Given the description of an element on the screen output the (x, y) to click on. 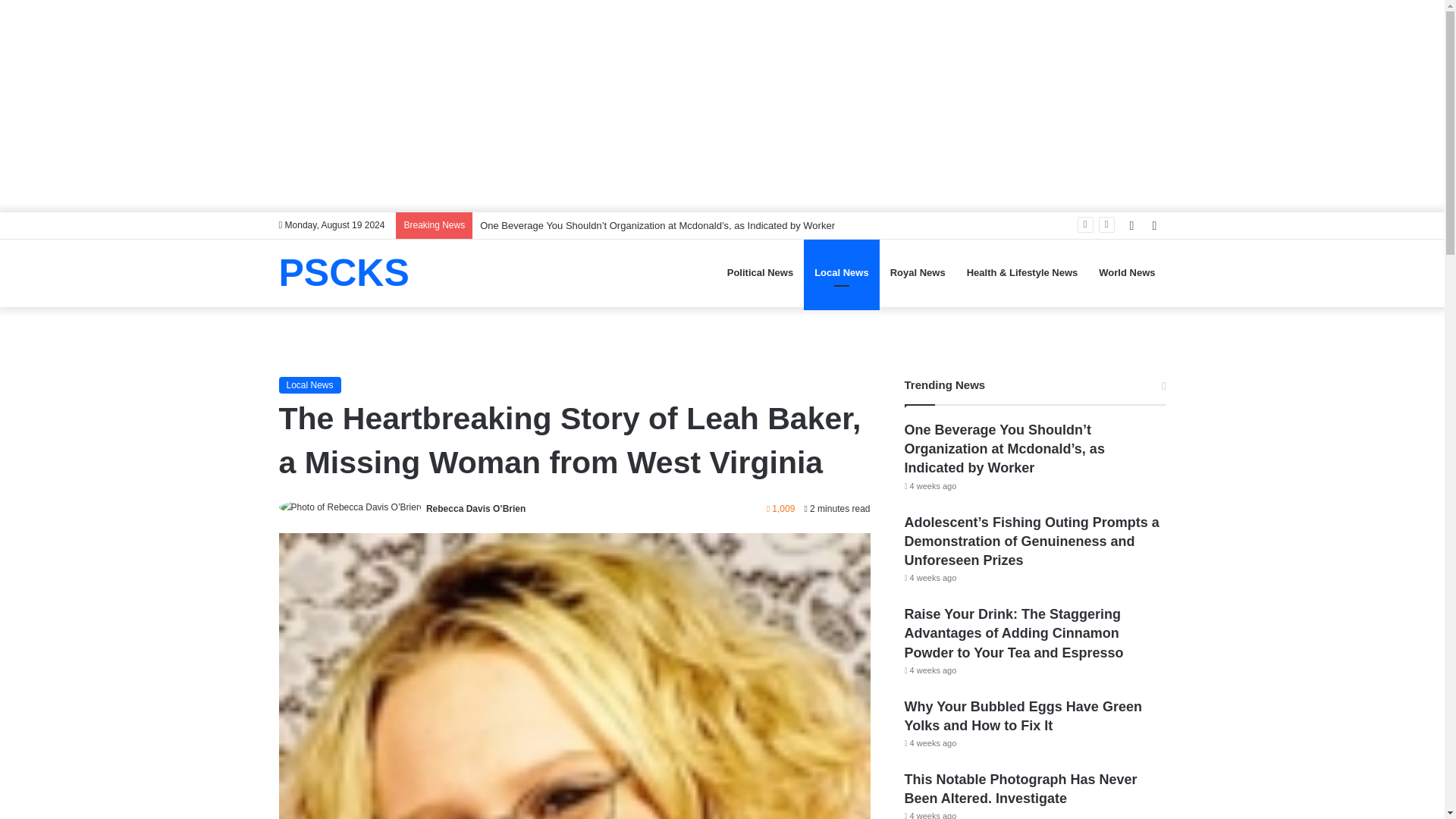
Local News (841, 272)
Local News (309, 384)
Royal News (917, 272)
World News (1126, 272)
PSCKS (344, 272)
PSCKS (344, 272)
Political News (759, 272)
